Given the description of an element on the screen output the (x, y) to click on. 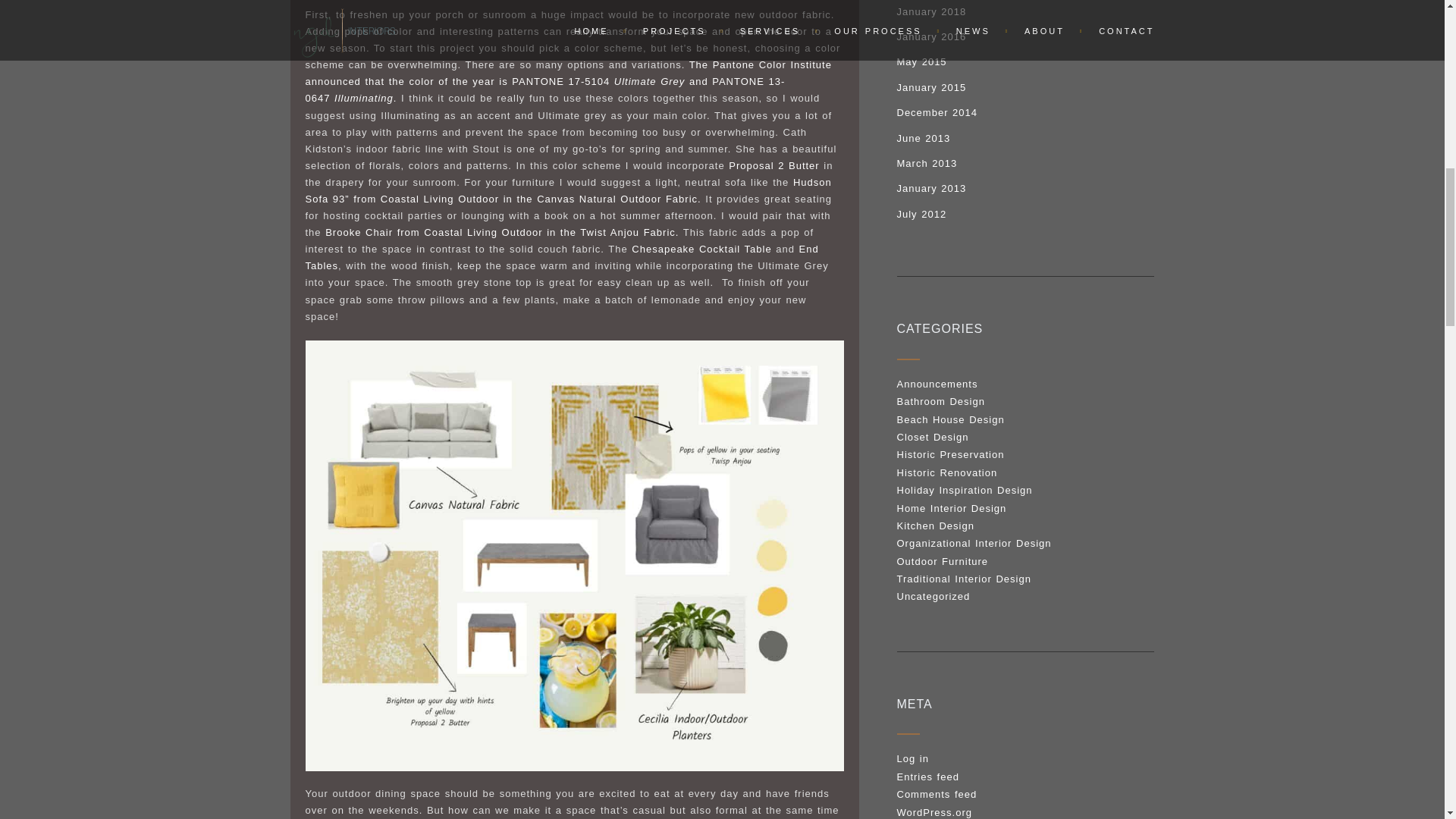
End Tables (561, 257)
Proposal 2 Butter (773, 165)
Chesapeake Cocktail Table (701, 248)
